Given the description of an element on the screen output the (x, y) to click on. 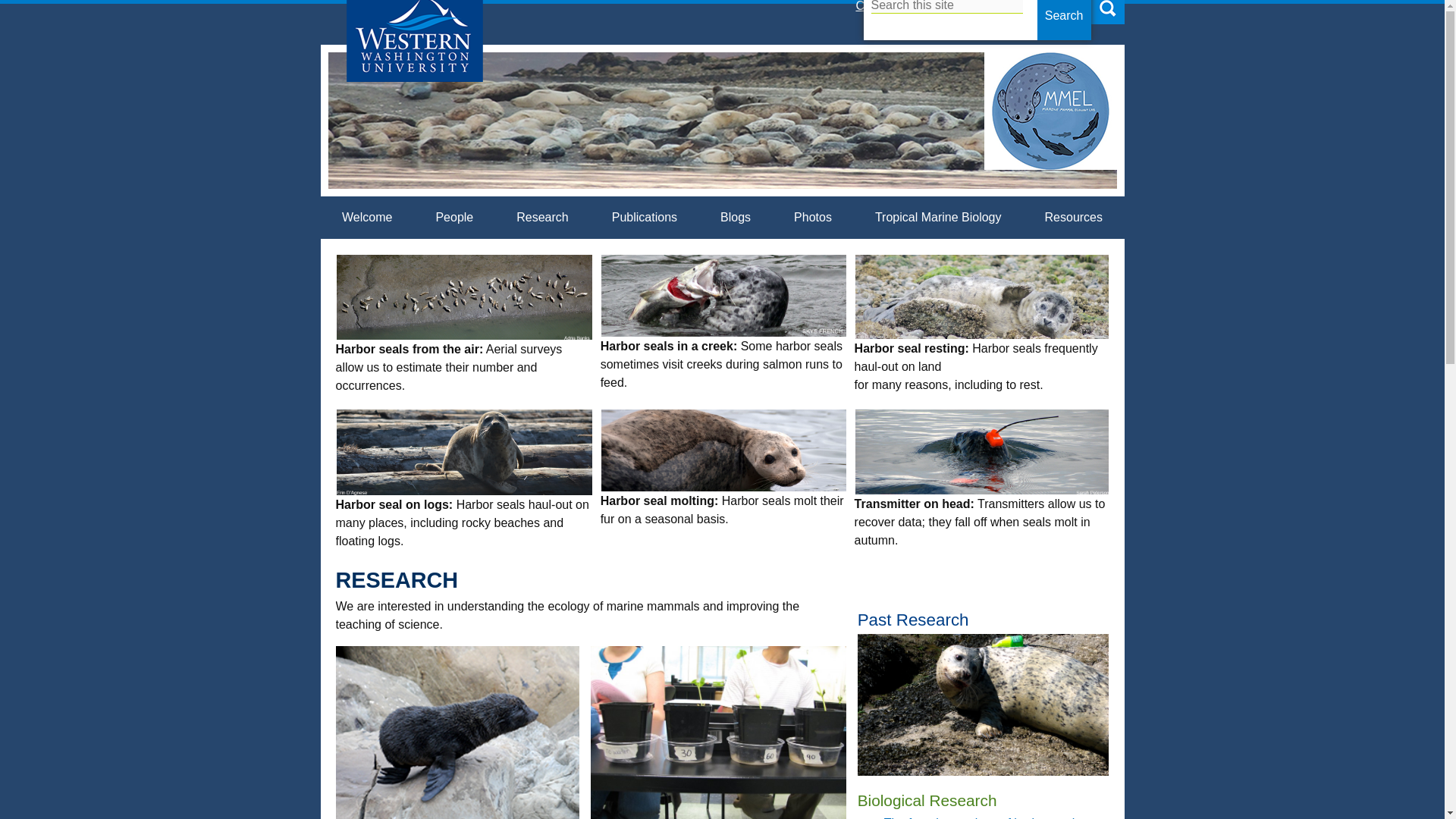
Map (995, 6)
myWestern (1053, 6)
Directory (944, 6)
Photos (813, 217)
Map (995, 6)
a seal catching a fish (723, 295)
myWestern (1053, 6)
Calendar (879, 6)
a seal perched on a rock near the water (723, 450)
Search (1063, 20)
